Given the description of an element on the screen output the (x, y) to click on. 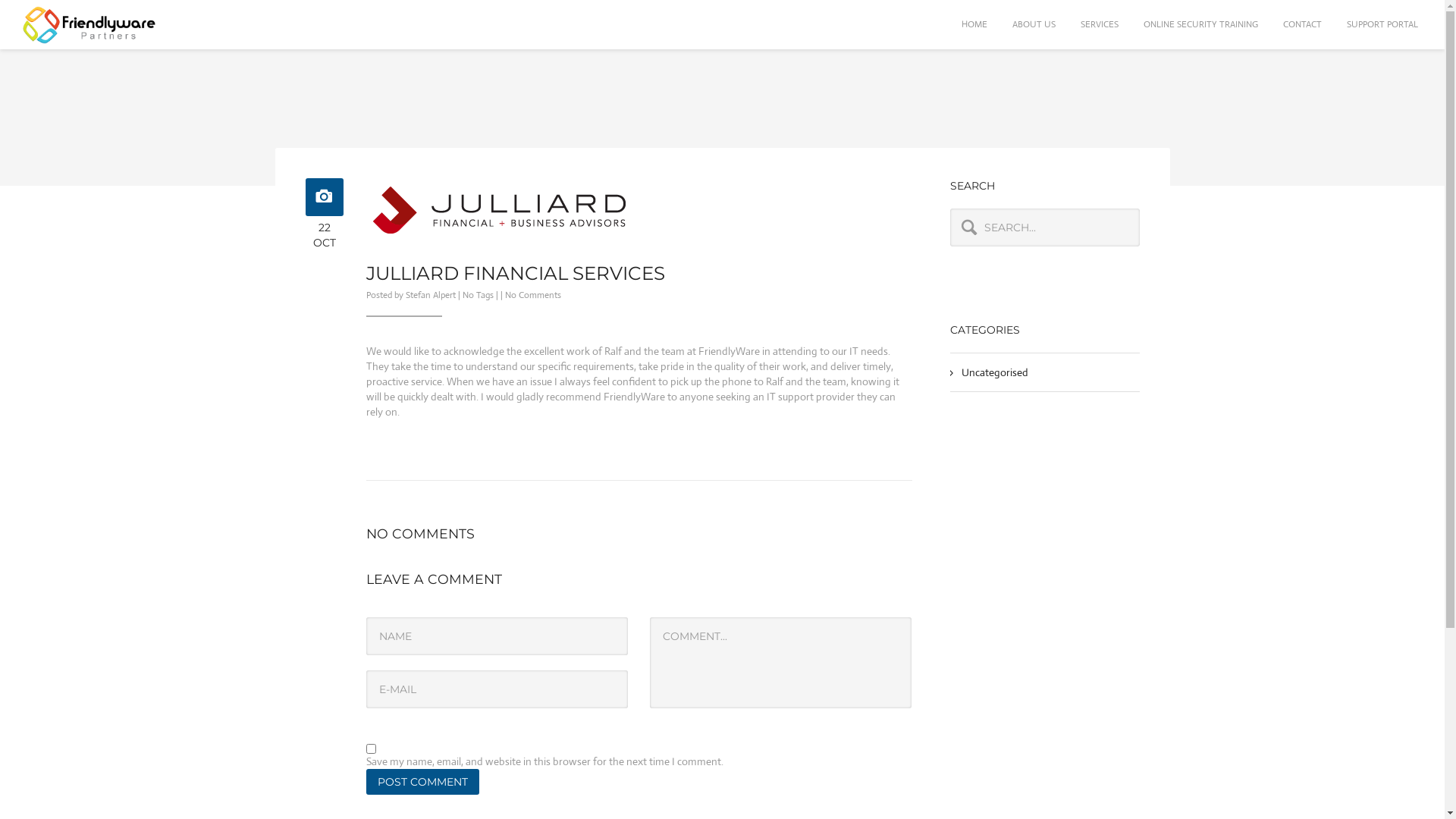
SERVICES Element type: text (1099, 24)
Search Element type: text (33, 12)
CONTACT Element type: text (1302, 24)
ONLINE SECURITY TRAINING Element type: text (1200, 24)
HOME Element type: text (974, 24)
Uncategorised Element type: text (994, 372)
ABOUT US Element type: text (1033, 24)
Stefan Alpert Element type: text (429, 294)
Post Comment Element type: text (421, 781)
No Comments
on Julliard Financial Services Element type: text (533, 294)
SUPPORT PORTAL Element type: text (1382, 24)
